Given the description of an element on the screen output the (x, y) to click on. 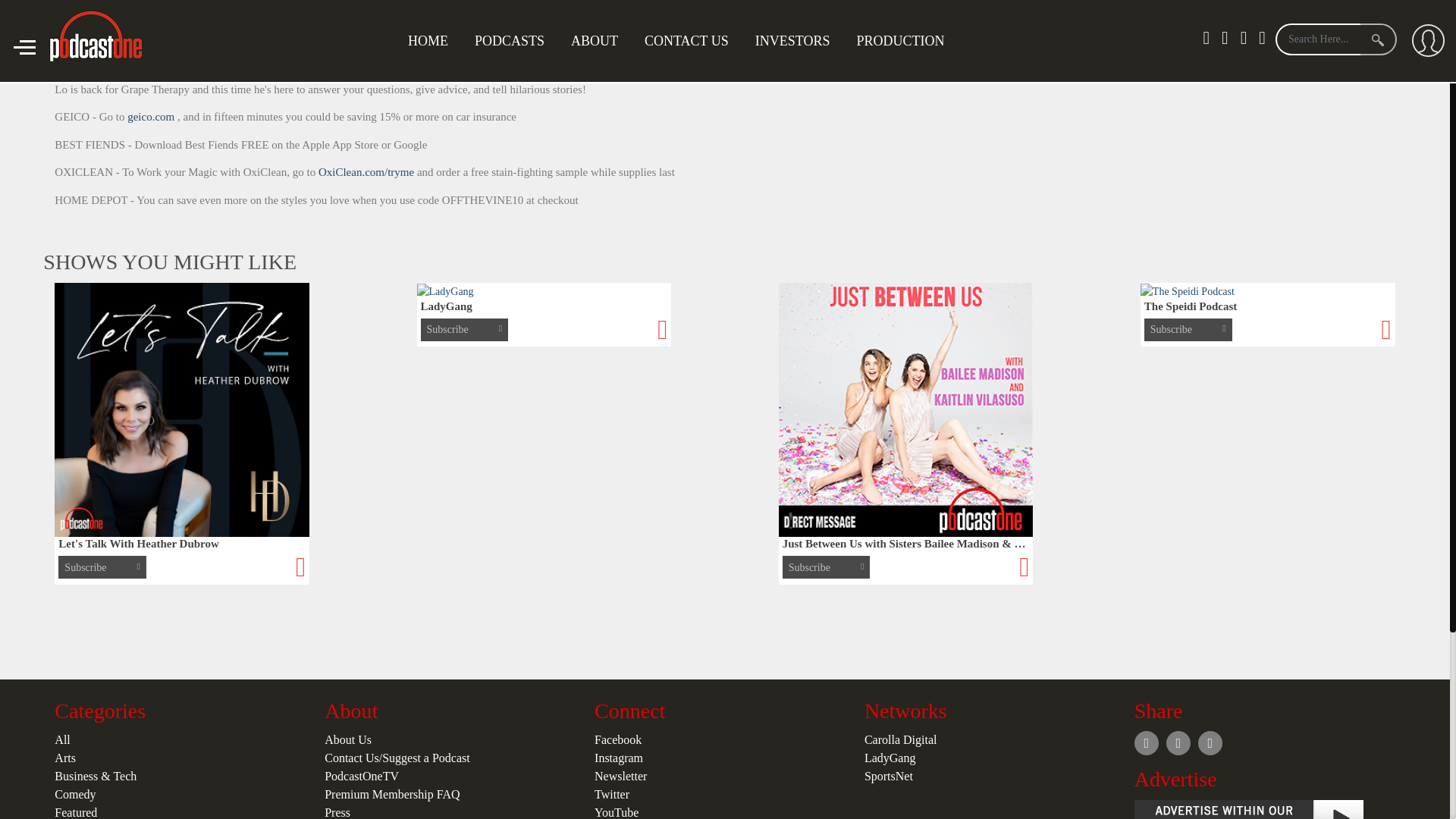
Follow Us on Twitter (1350, 52)
CONTACT US (686, 40)
INVESTORS (792, 40)
PODCASTS (509, 40)
PRODUCTION (899, 40)
Follow Us on Facebook (1382, 52)
HOME (428, 40)
ABOUT (593, 40)
Subscribe (1270, 52)
